Given the description of an element on the screen output the (x, y) to click on. 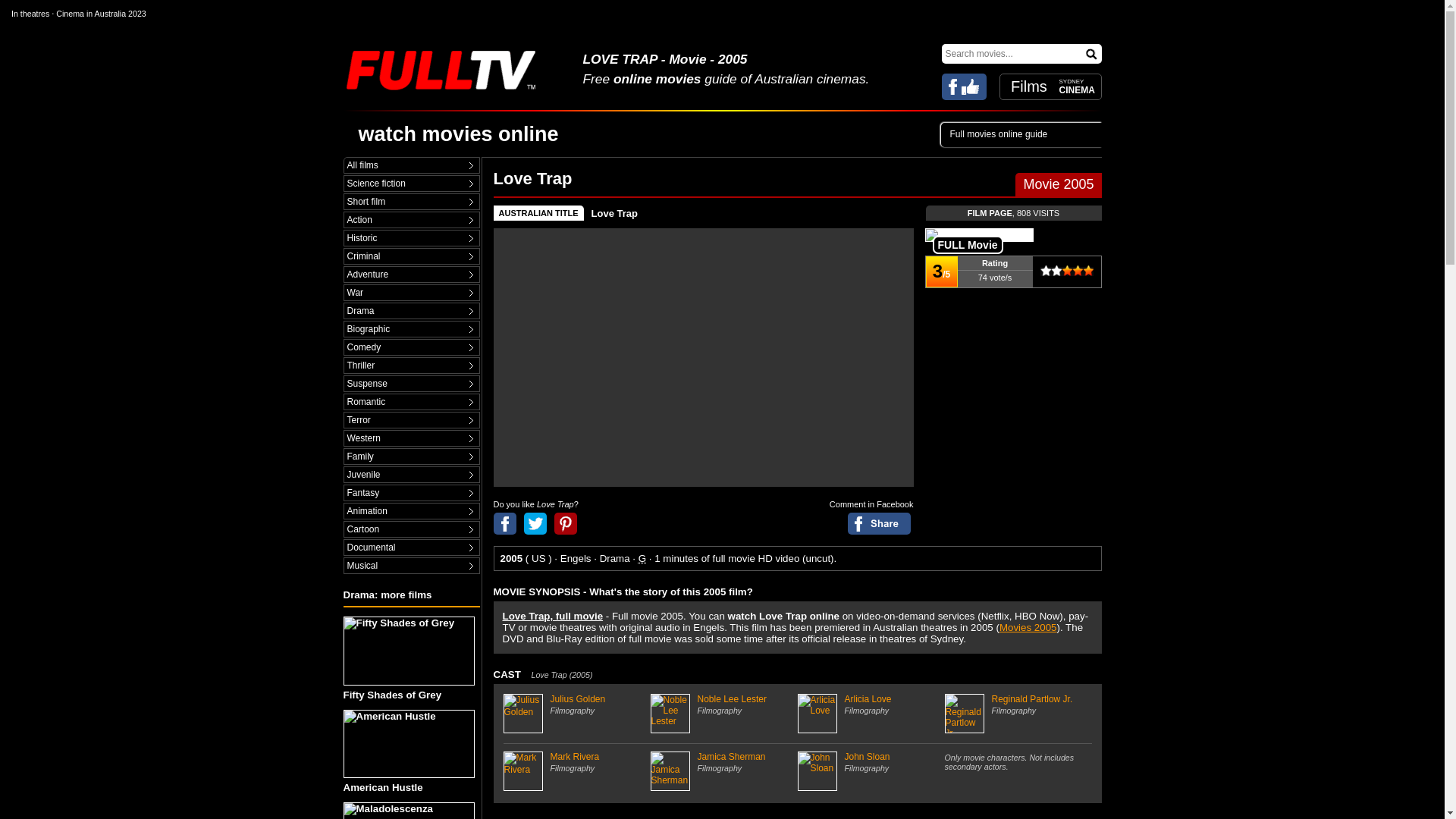
American Hustle (410, 751)
Suspense (411, 383)
Comedy (411, 346)
Romantic (411, 401)
watch movies online (457, 133)
Maladolescenza (410, 810)
Short film (411, 201)
Western (411, 437)
Maladolescenza, movie (408, 810)
Biographic (411, 328)
Criminal (411, 255)
All free movies (411, 165)
War (411, 292)
Cinema in Australia 2023 (100, 13)
Drama (411, 310)
